Given the description of an element on the screen output the (x, y) to click on. 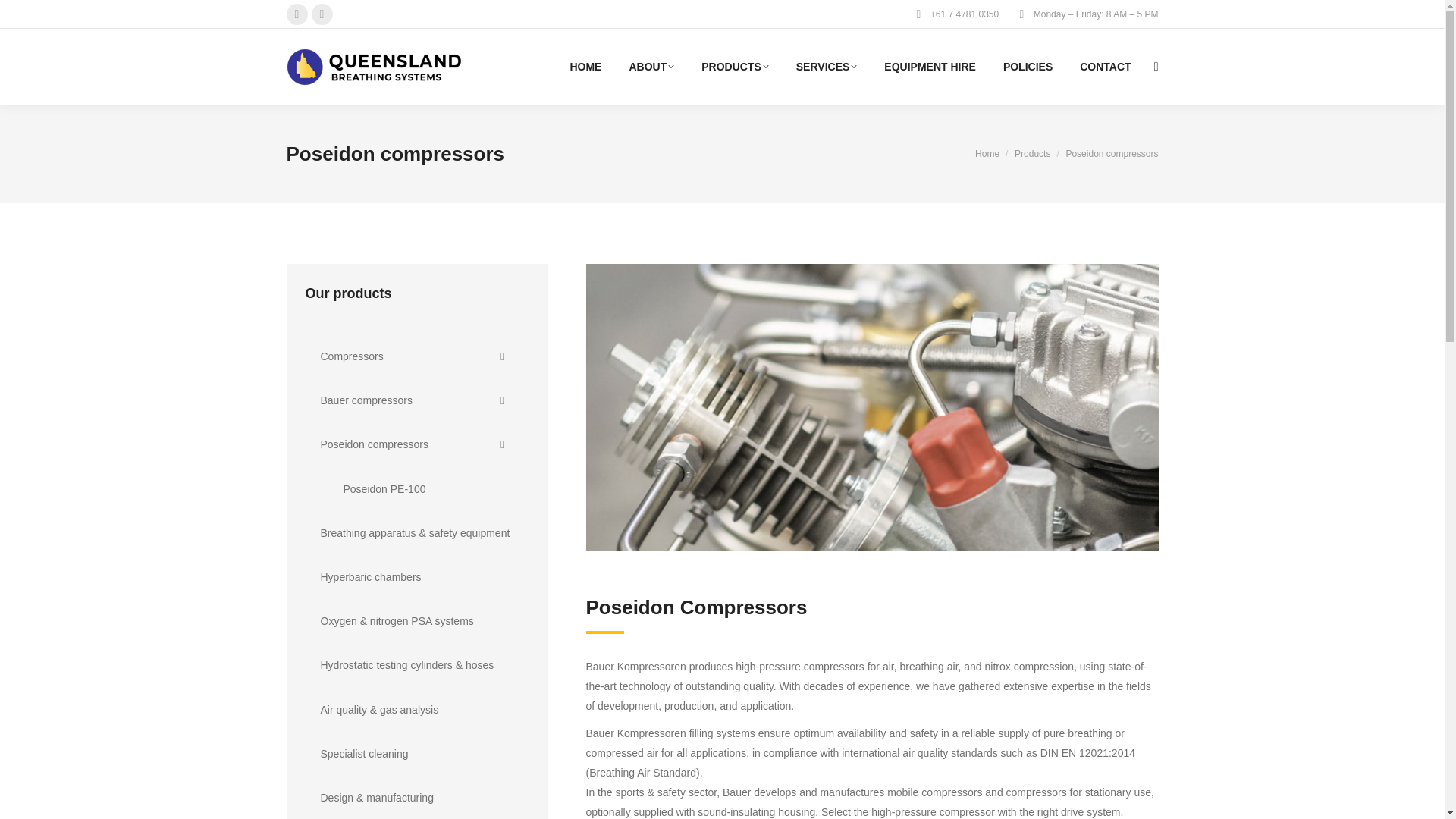
Page 8 (871, 737)
Page 8 (871, 752)
Linkedin page opens in new window (321, 14)
Home (986, 153)
Facebook page opens in new window (296, 14)
Linkedin page opens in new window (321, 14)
SERVICES (826, 66)
PRODUCTS (734, 66)
Facebook page opens in new window (296, 14)
EQUIPMENT HIRE (929, 66)
Go! (24, 16)
Products (1031, 153)
